Given the description of an element on the screen output the (x, y) to click on. 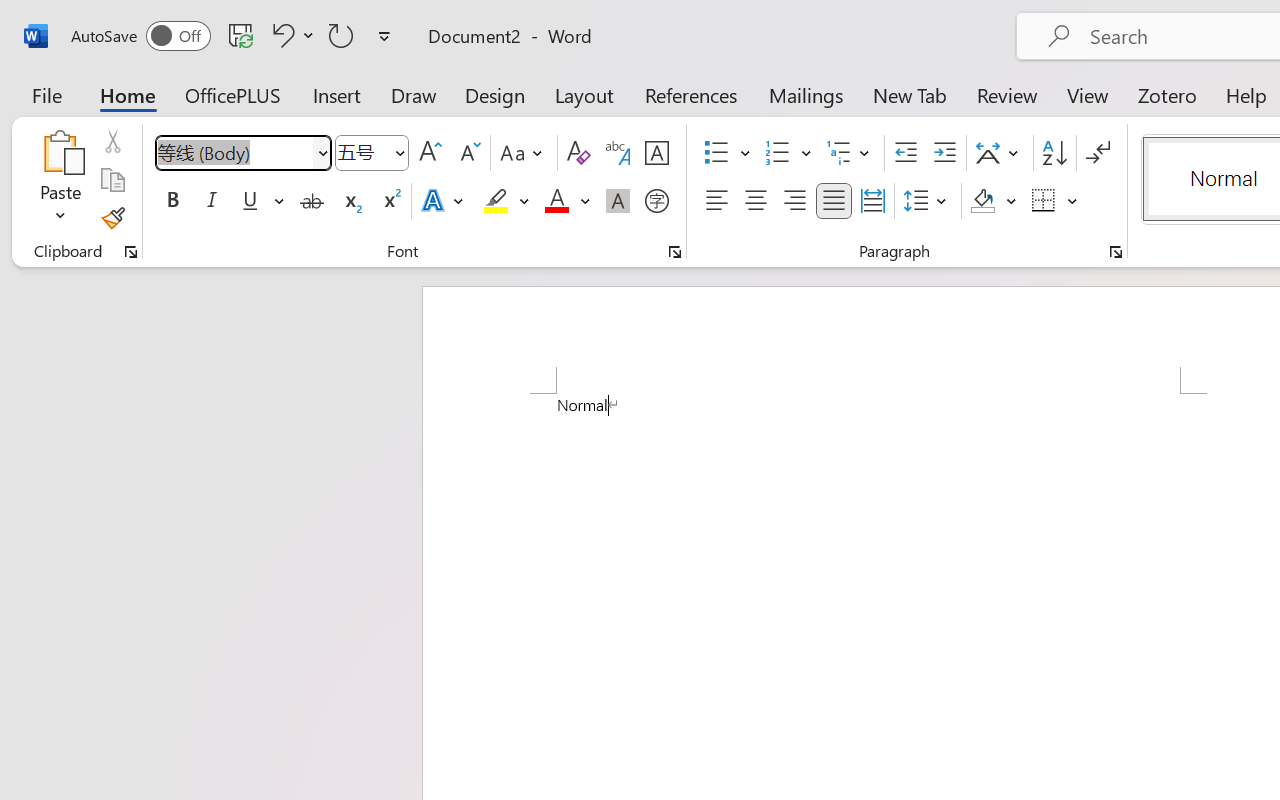
Decrease Indent (906, 153)
Line and Paragraph Spacing (927, 201)
Zotero (1166, 94)
View (1087, 94)
Text Highlight Color (506, 201)
Save (241, 35)
Font Size (362, 152)
Font Color (567, 201)
Borders (1044, 201)
Undo Apply Quick Style (280, 35)
Text Highlight Color Yellow (495, 201)
Enclose Characters... (656, 201)
Subscript (350, 201)
Customize Quick Access Toolbar (384, 35)
Superscript (390, 201)
